Given the description of an element on the screen output the (x, y) to click on. 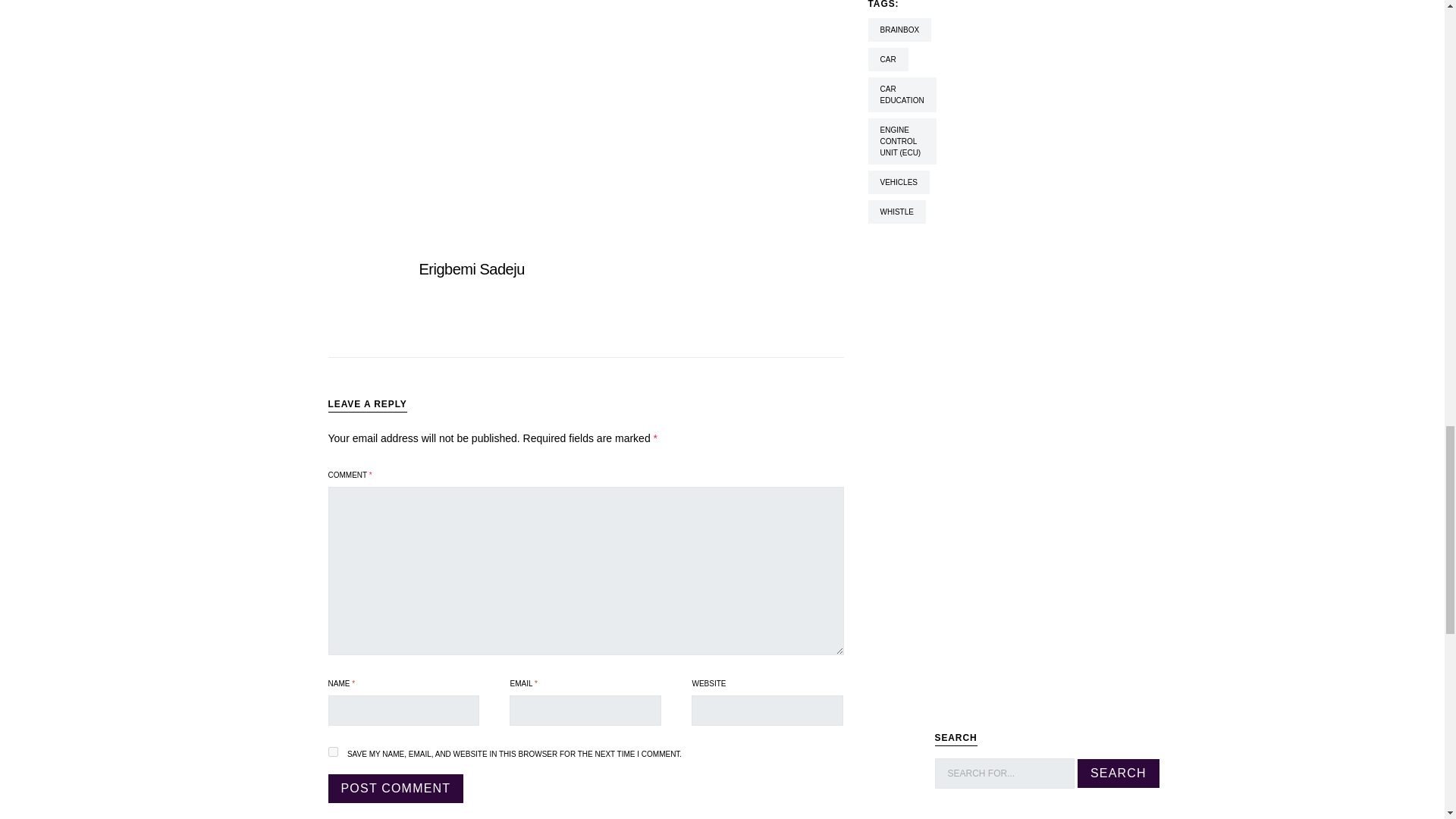
CAR (887, 59)
Erigbemi Sadeju (471, 269)
yes (332, 751)
tumblr (558, 11)
pinterest (381, 11)
BRAINBOX (899, 29)
reddit (523, 11)
whatsapp (487, 11)
facebook (344, 11)
twitter (415, 11)
linkedin (452, 11)
CAR EDUCATION (901, 94)
Post Comment (395, 788)
Post Comment (395, 788)
WHISTLE (895, 211)
